Given the description of an element on the screen output the (x, y) to click on. 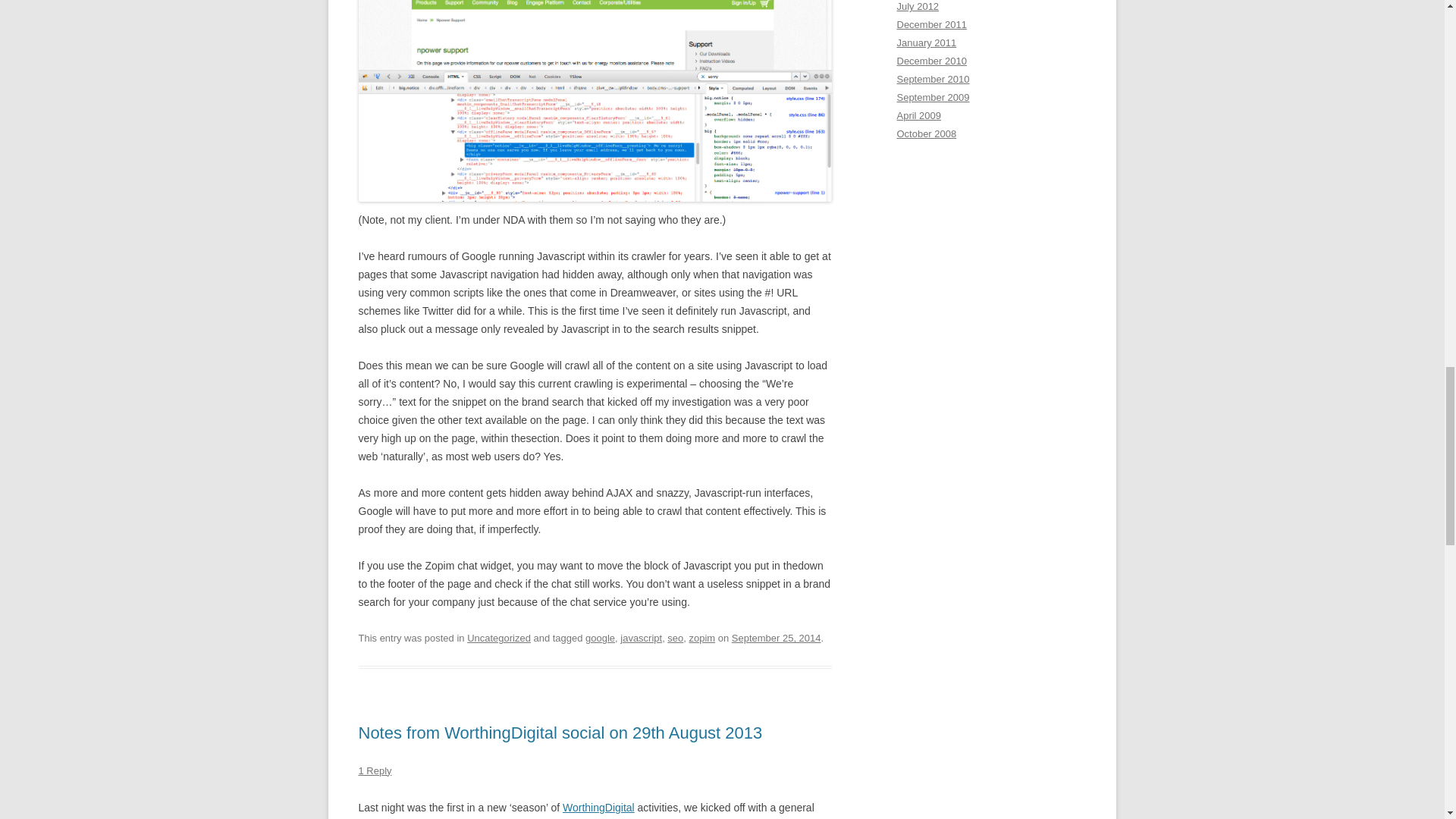
Notes from WorthingDigital social on 29th August 2013 (559, 732)
google (599, 637)
September 25, 2014 (776, 637)
zopim (701, 637)
WorthingDigital (598, 807)
4:07 pm (776, 637)
seo (674, 637)
javascript (641, 637)
1 Reply (374, 770)
Uncategorized (499, 637)
